Given the description of an element on the screen output the (x, y) to click on. 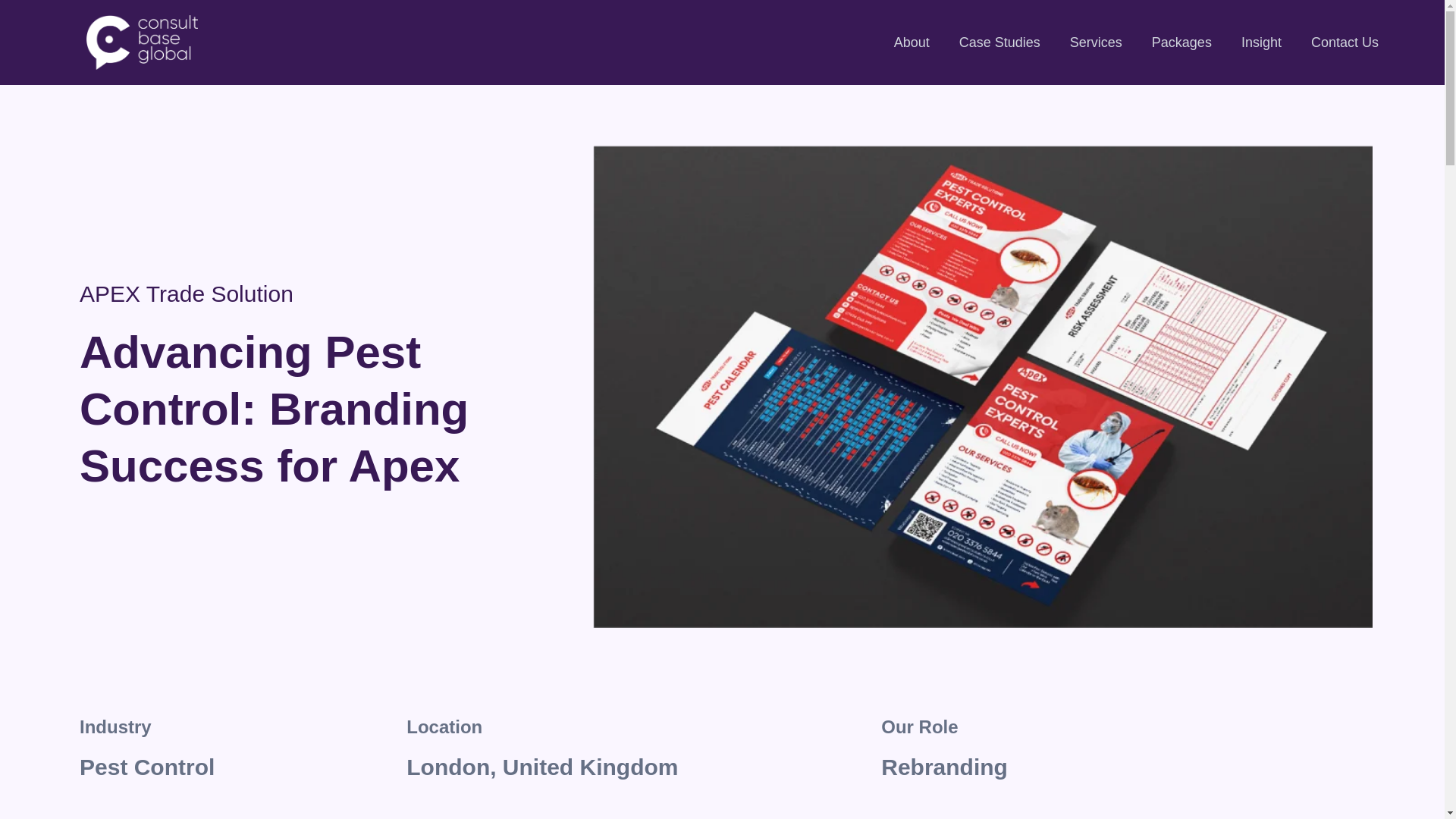
Packages (1182, 42)
Contact Us (1345, 42)
Insight (1261, 42)
About (911, 42)
Services (1095, 42)
Case Studies (999, 42)
